Given the description of an element on the screen output the (x, y) to click on. 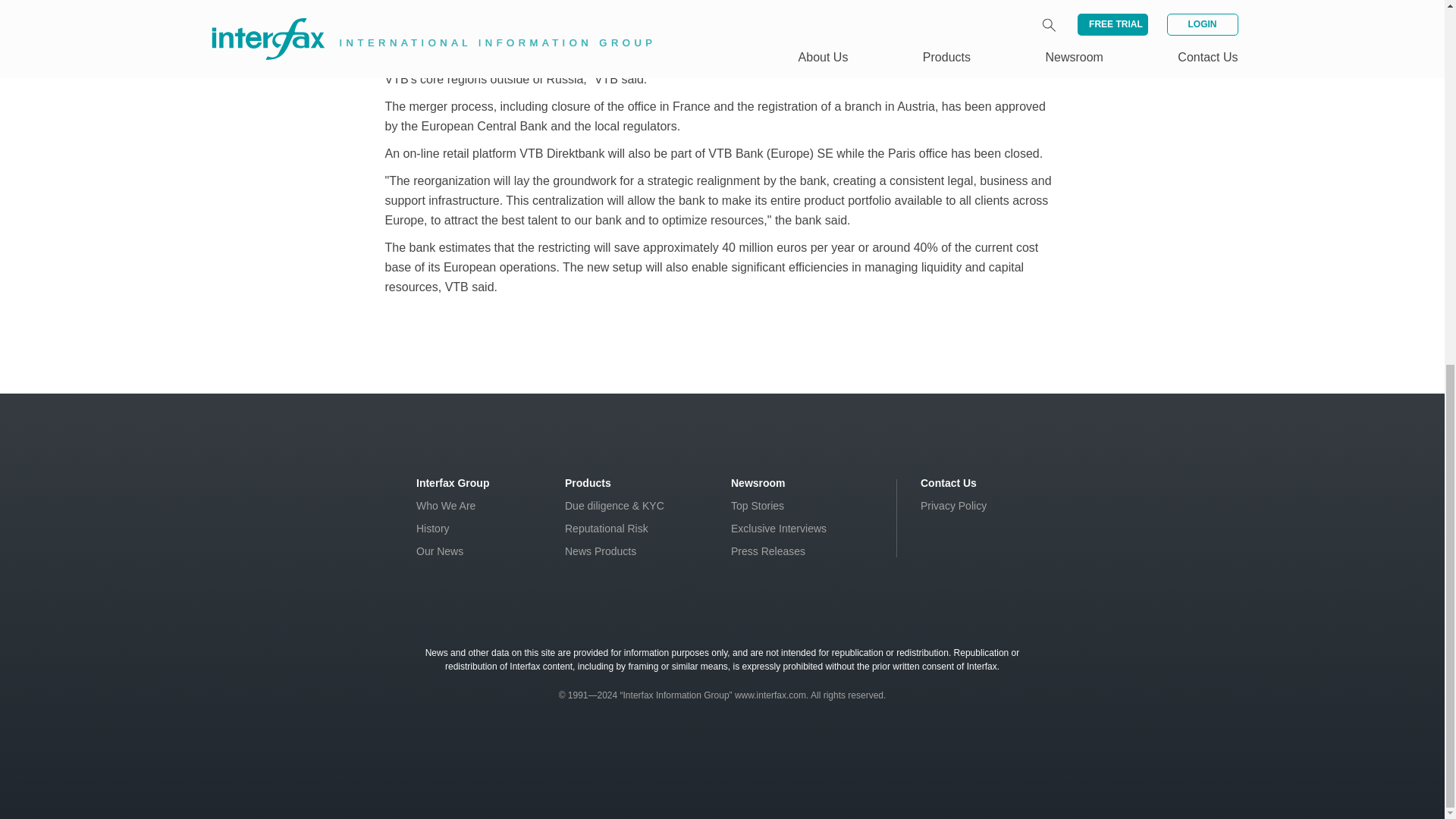
Our News (439, 551)
Interfax Group (452, 482)
Who We Are (446, 505)
History (432, 528)
